Given the description of an element on the screen output the (x, y) to click on. 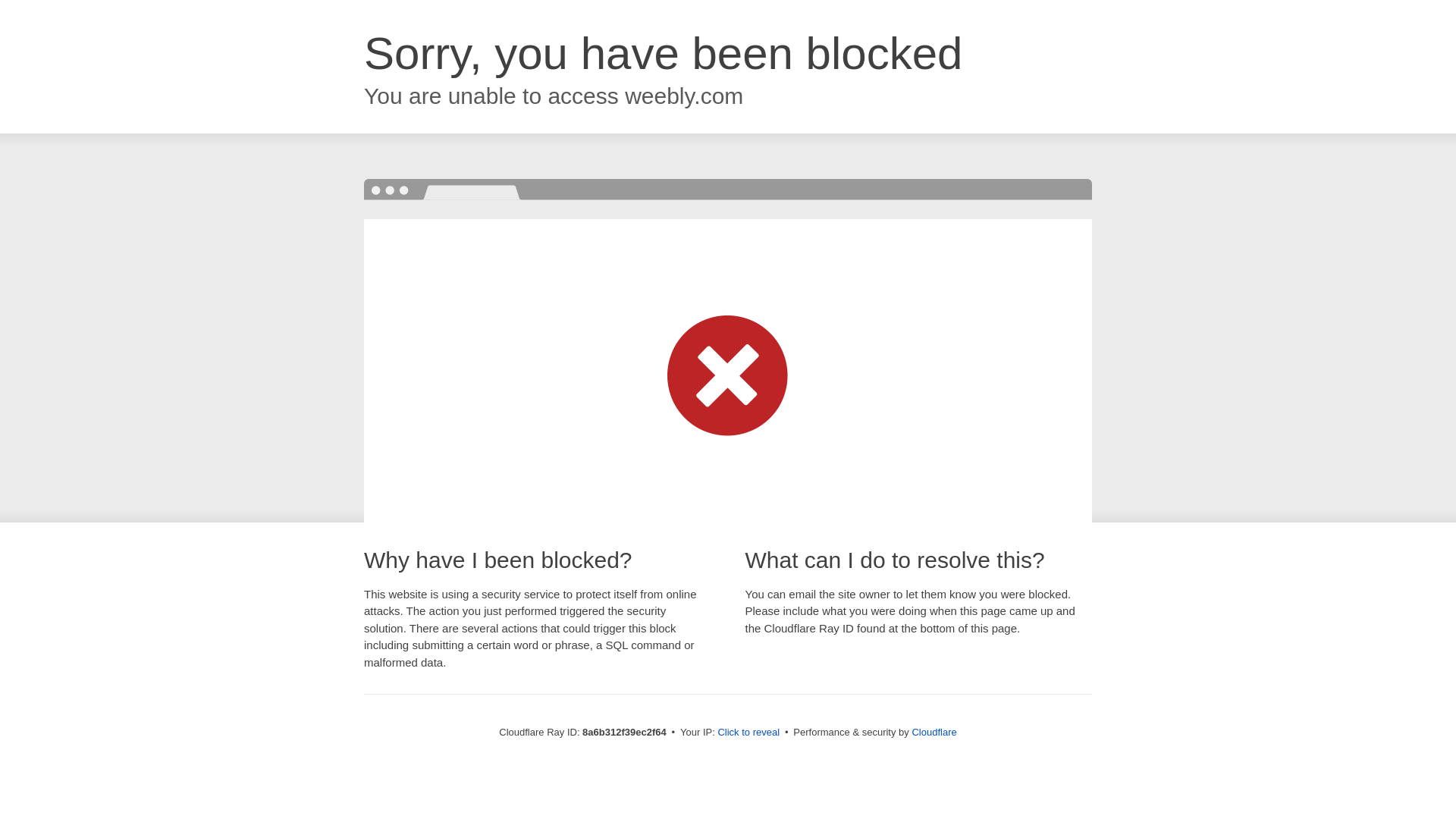
Click to reveal (747, 732)
Cloudflare (933, 731)
